Given the description of an element on the screen output the (x, y) to click on. 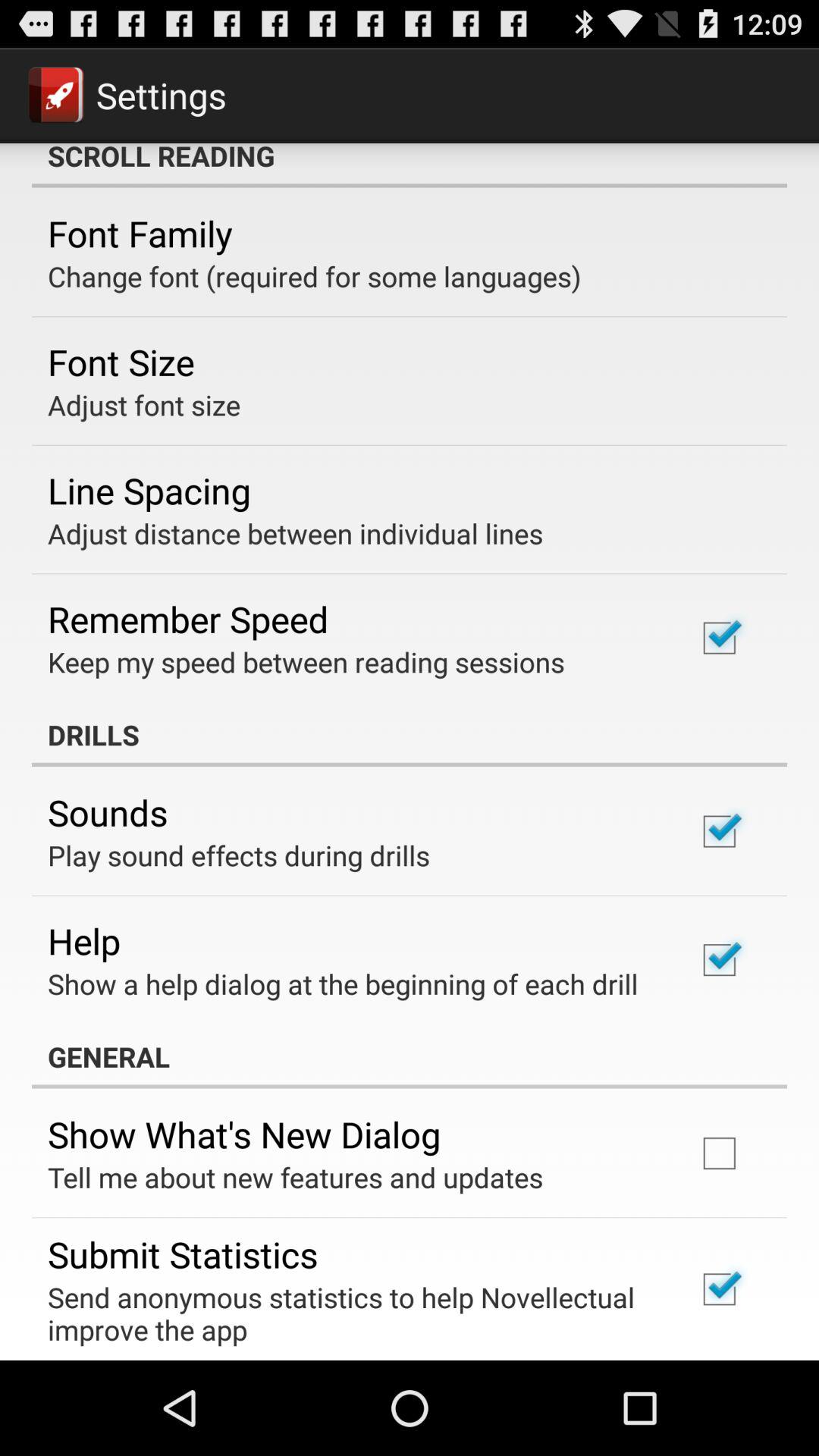
flip to the keep my speed item (305, 661)
